Given the description of an element on the screen output the (x, y) to click on. 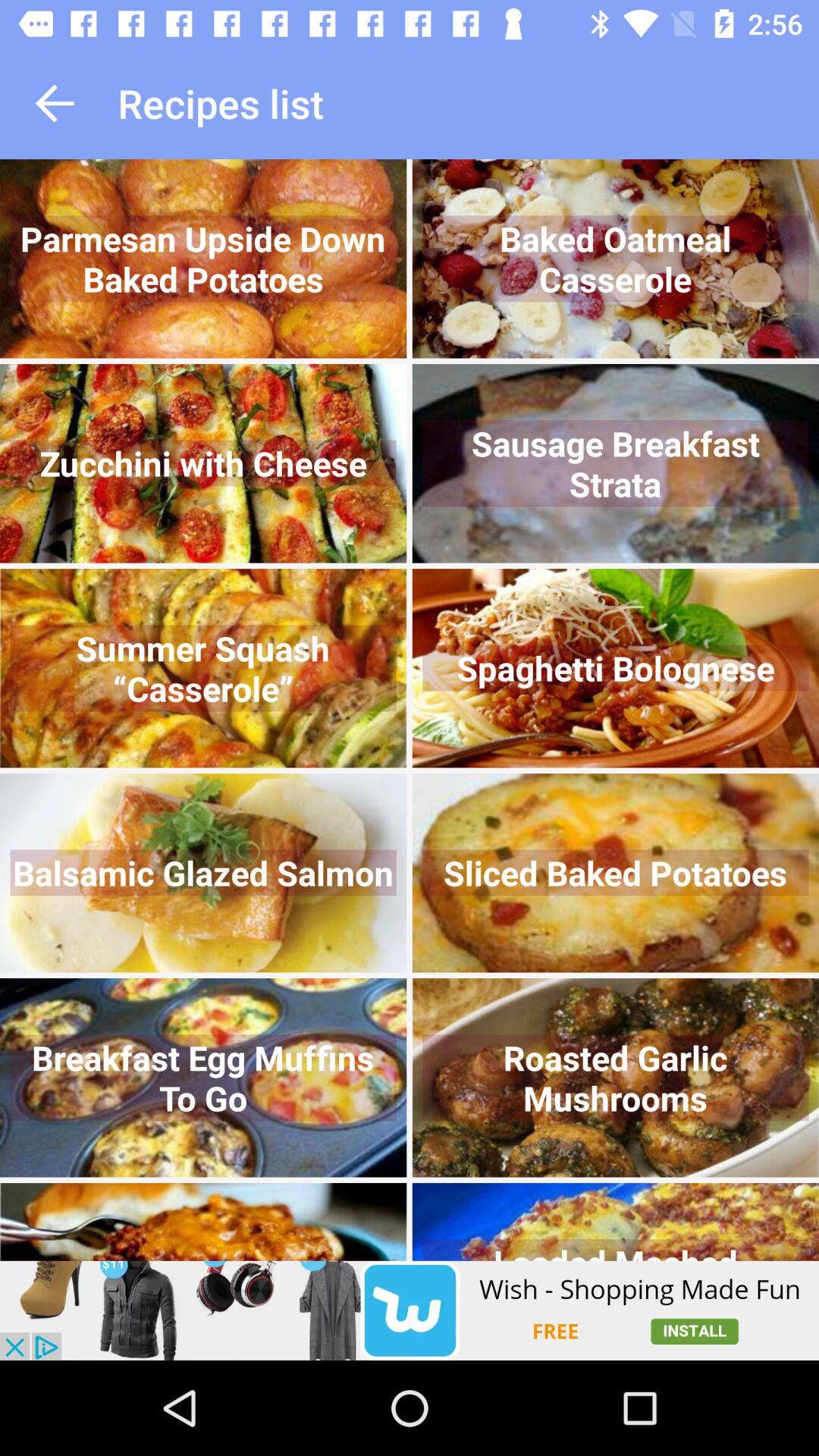
open advertisement (409, 1310)
